Given the description of an element on the screen output the (x, y) to click on. 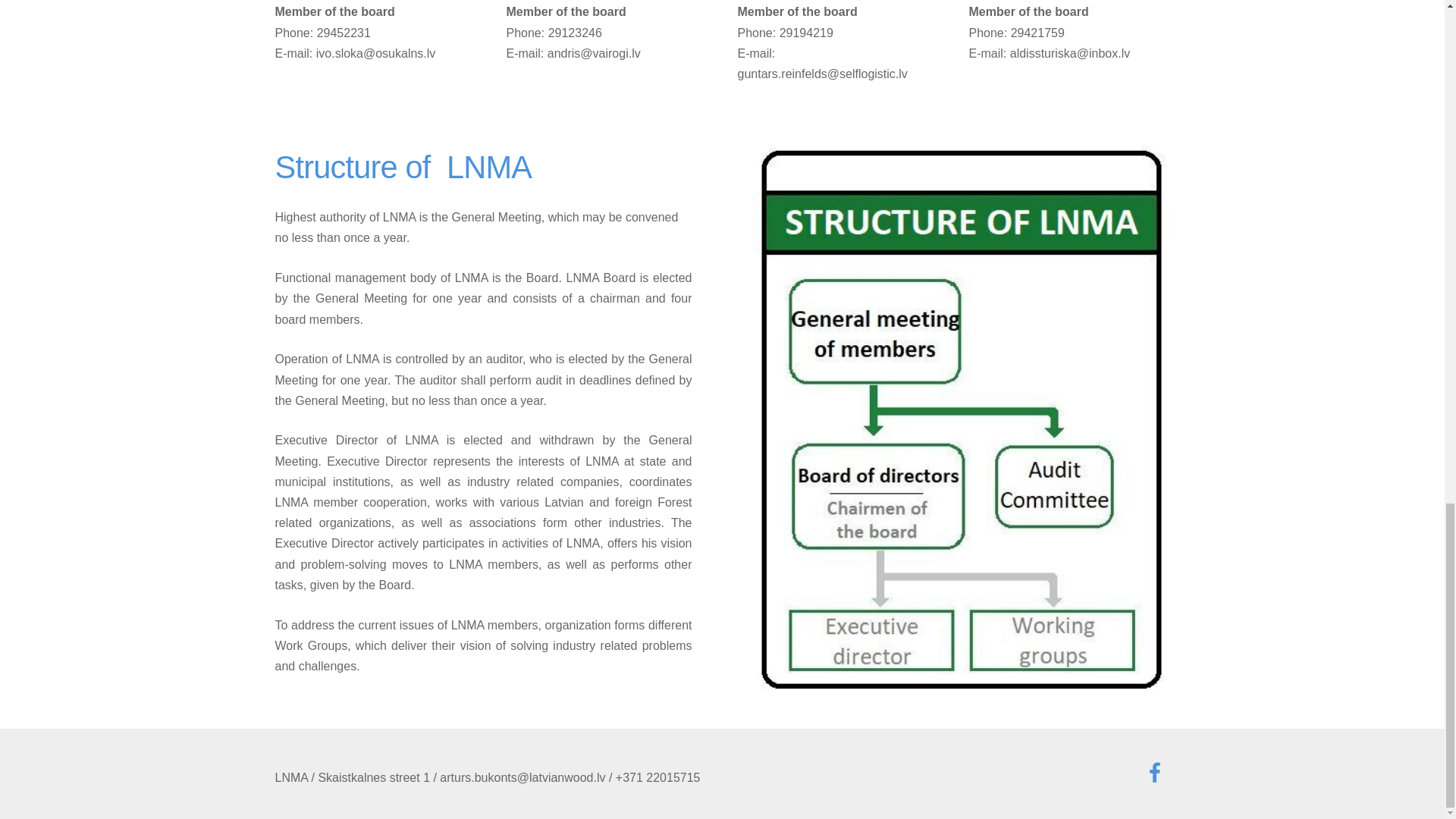
Facebook (1153, 772)
